Given the description of an element on the screen output the (x, y) to click on. 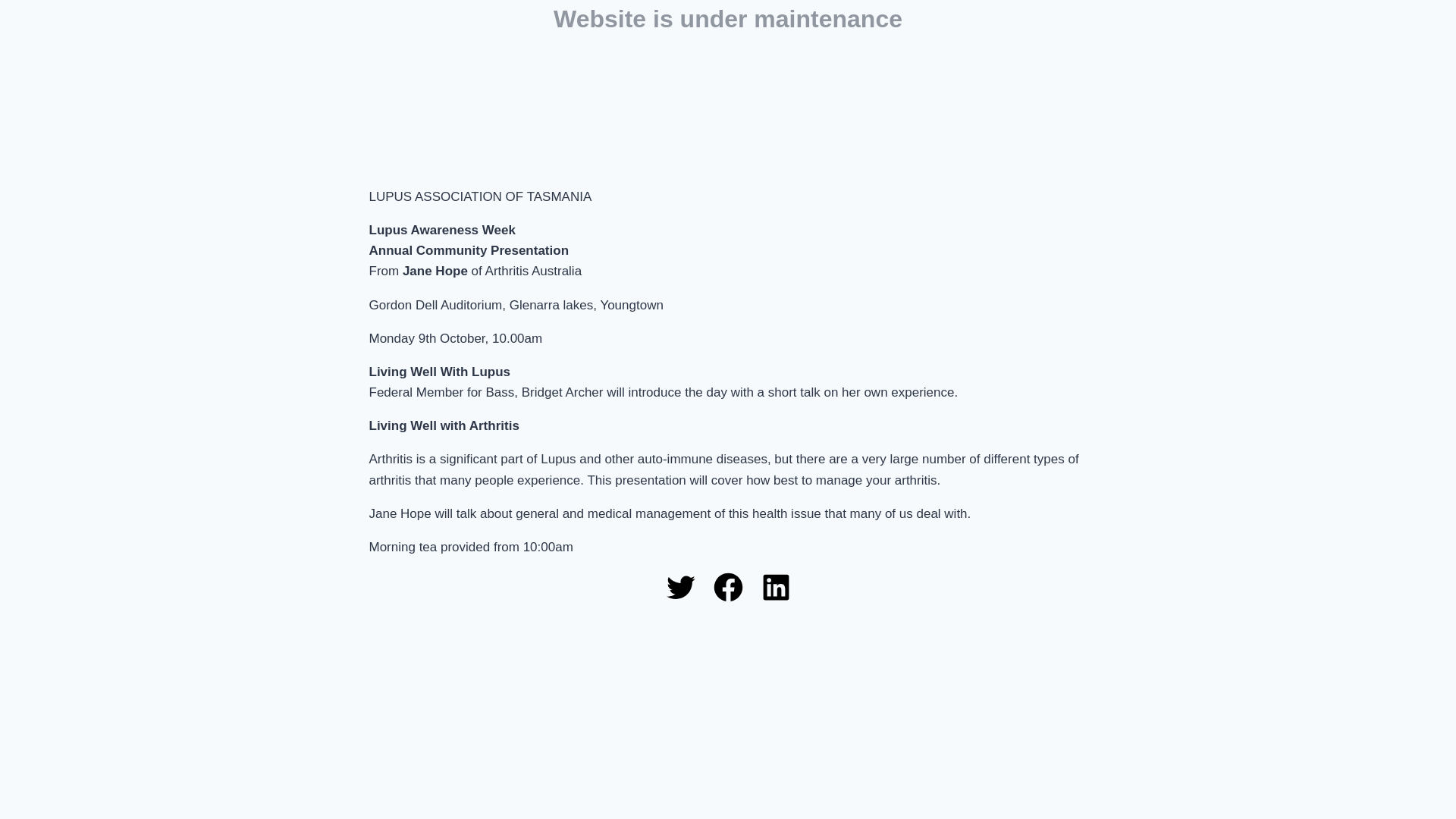
Facebook Element type: text (728, 587)
Twitter Element type: text (679, 587)
LinkedIn Element type: text (775, 587)
